Given the description of an element on the screen output the (x, y) to click on. 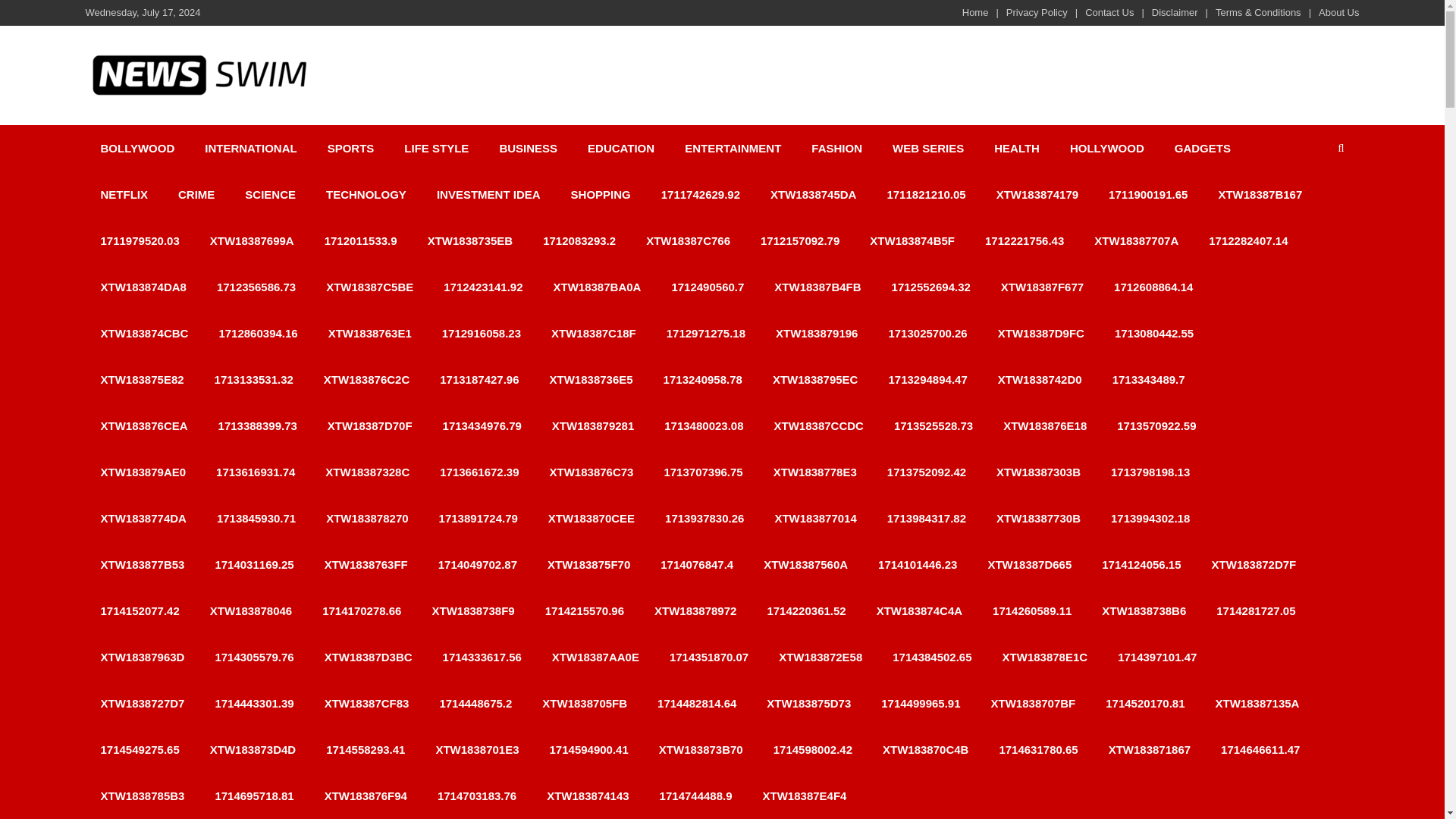
HEALTH (1016, 148)
1712011533.9 (360, 240)
Privacy Policy (1036, 12)
1711900191.65 (1147, 194)
XTW1838735EB (470, 240)
CRIME (196, 194)
TECHNOLOGY (366, 194)
WEB SERIES (927, 148)
ENTERTAINMENT (732, 148)
SCIENCE (270, 194)
BOLLYWOOD (136, 148)
FASHION (836, 148)
BUSINESS (527, 148)
GADGETS (1202, 148)
SHOPPING (601, 194)
